Given the description of an element on the screen output the (x, y) to click on. 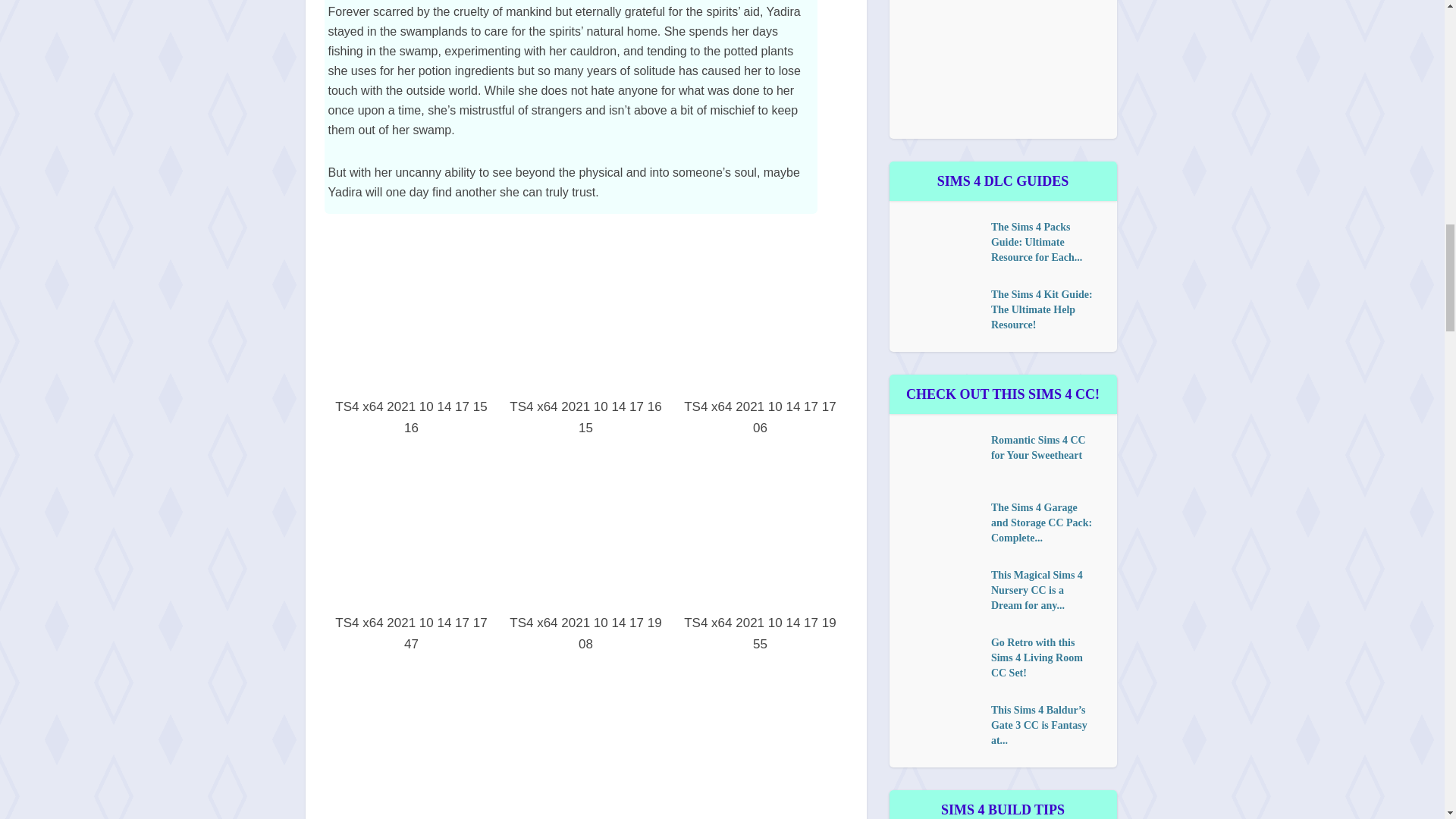
The Sims 4 Story Starter Kit: Yadira the Swamp Witch 6 (412, 529)
The Sims 4 Story Starter Kit: Yadira the Swamp Witch 4 (585, 313)
The Sims 4 Story Starter Kit: Yadira the Swamp Witch 5 (760, 313)
The Sims 4 Story Starter Kit: Yadira the Swamp Witch 3 (412, 313)
The Sims 4 Story Starter Kit: Yadira the Swamp Witch 8 (760, 529)
The Sims 4 Story Starter Kit: Yadira the Swamp Witch 10 (585, 740)
The Sims 4 Story Starter Kit: Yadira the Swamp Witch 7 (585, 529)
The Sims 4 Story Starter Kit: Yadira the Swamp Witch 9 (412, 740)
